Given the description of an element on the screen output the (x, y) to click on. 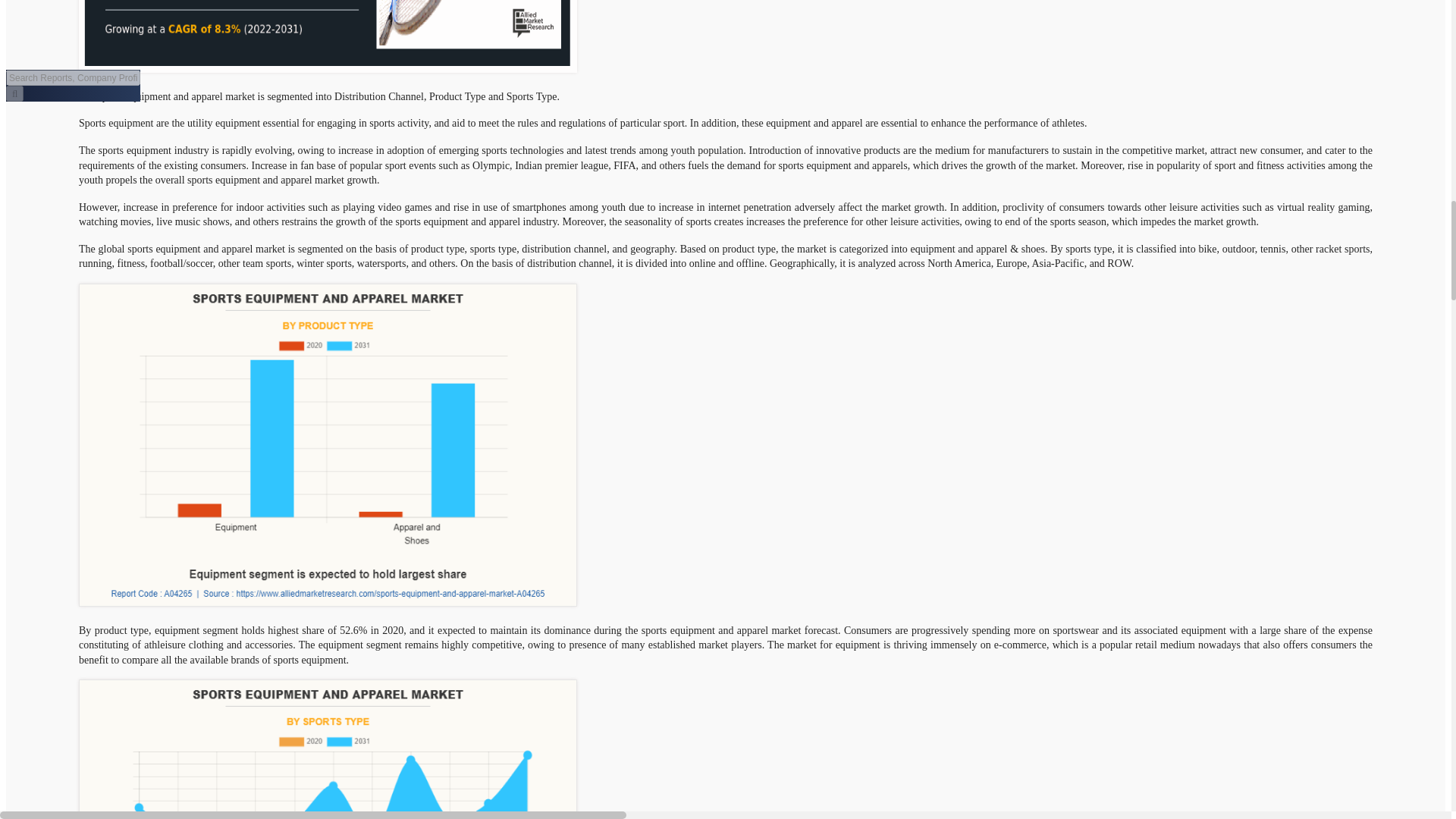
Sports Equipment and Apparel Market by Sports Type (327, 749)
